Given the description of an element on the screen output the (x, y) to click on. 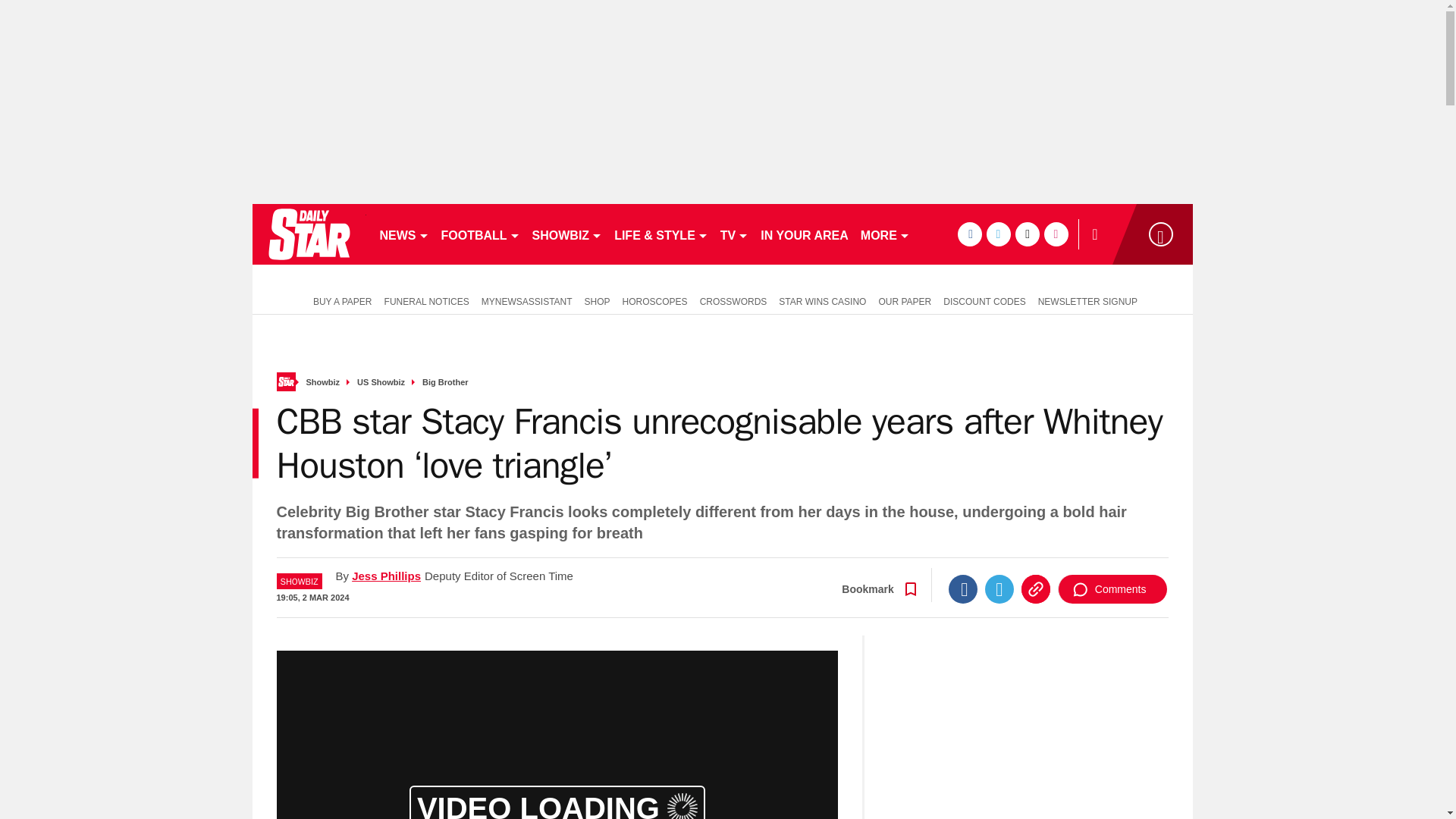
Facebook (962, 588)
Twitter (999, 588)
instagram (1055, 233)
twitter (997, 233)
facebook (968, 233)
SHOWBIZ (566, 233)
dailystar (308, 233)
tiktok (1026, 233)
NEWS (402, 233)
Comments (1112, 588)
